Given the description of an element on the screen output the (x, y) to click on. 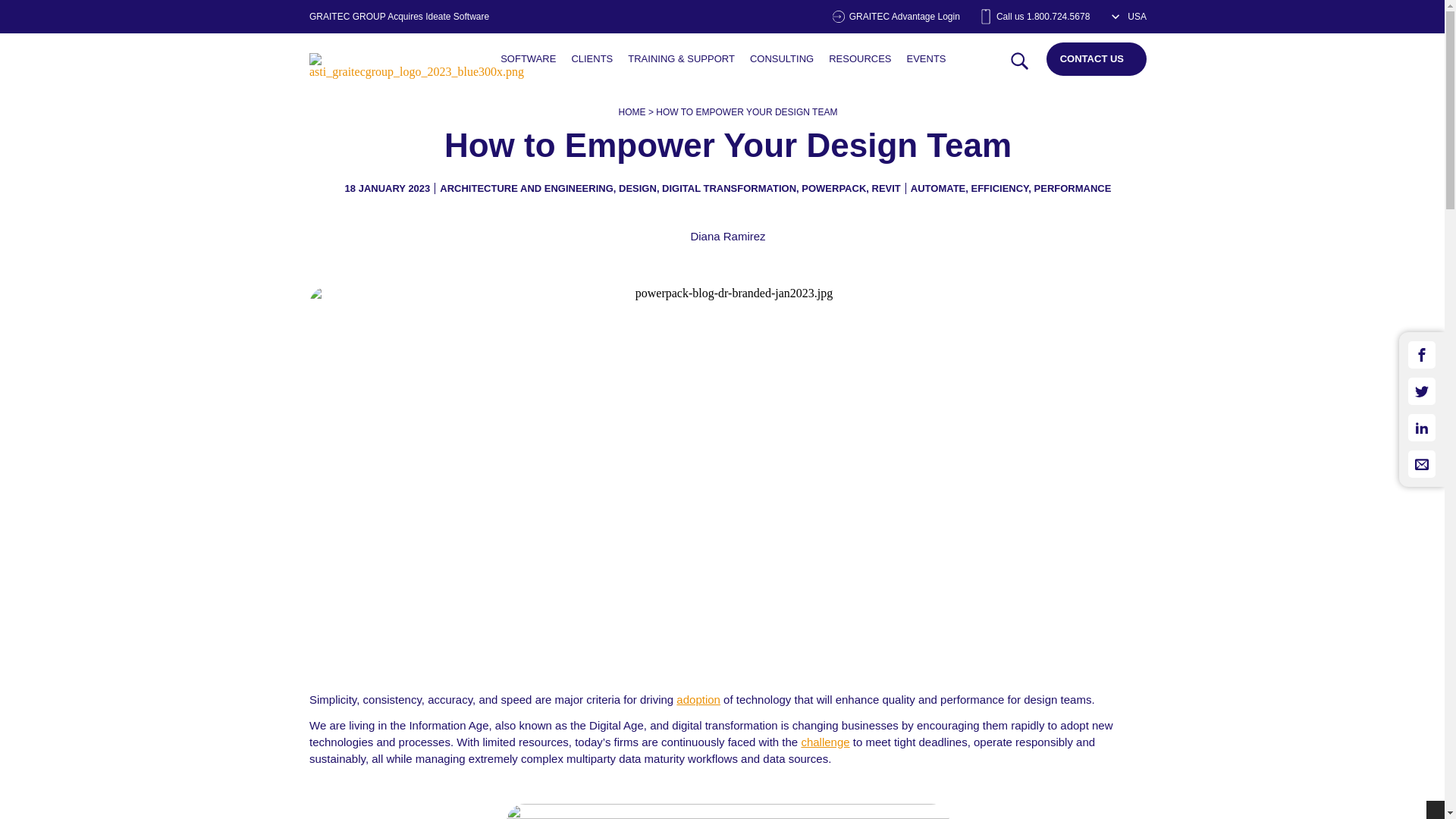
SOFTWARE (528, 58)
GRAITEC GROUP Acquires Ideate Software (398, 16)
Link post Object (528, 58)
Page d'accueil (416, 76)
